Given the description of an element on the screen output the (x, y) to click on. 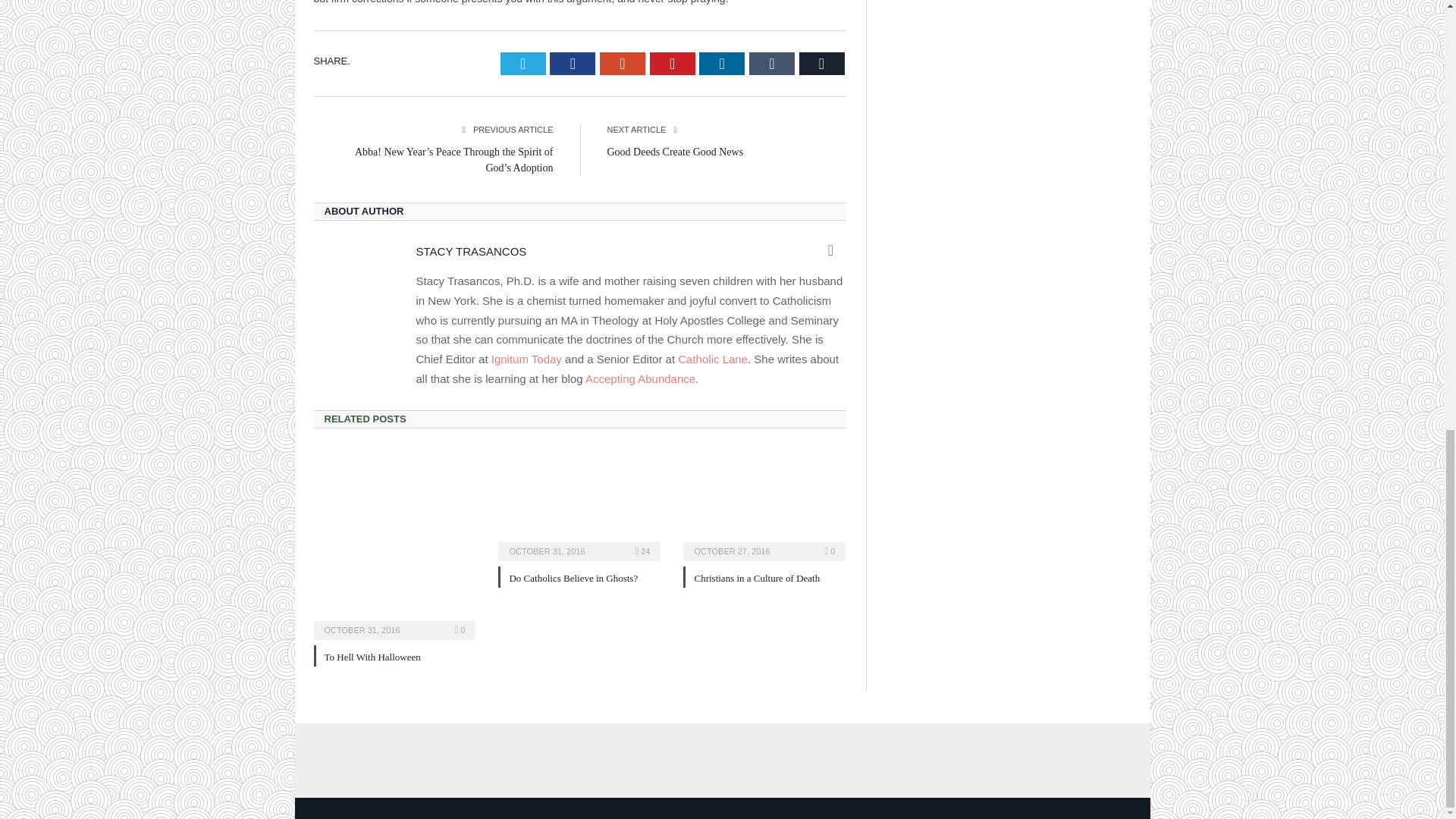
Good Deeds Create Good News (674, 152)
Facebook (572, 63)
LinkedIn (721, 63)
Pinterest (672, 63)
STACY TRASANCOS (469, 250)
Twitter (523, 63)
Email (821, 63)
Tumblr (771, 63)
Website (831, 249)
